Given the description of an element on the screen output the (x, y) to click on. 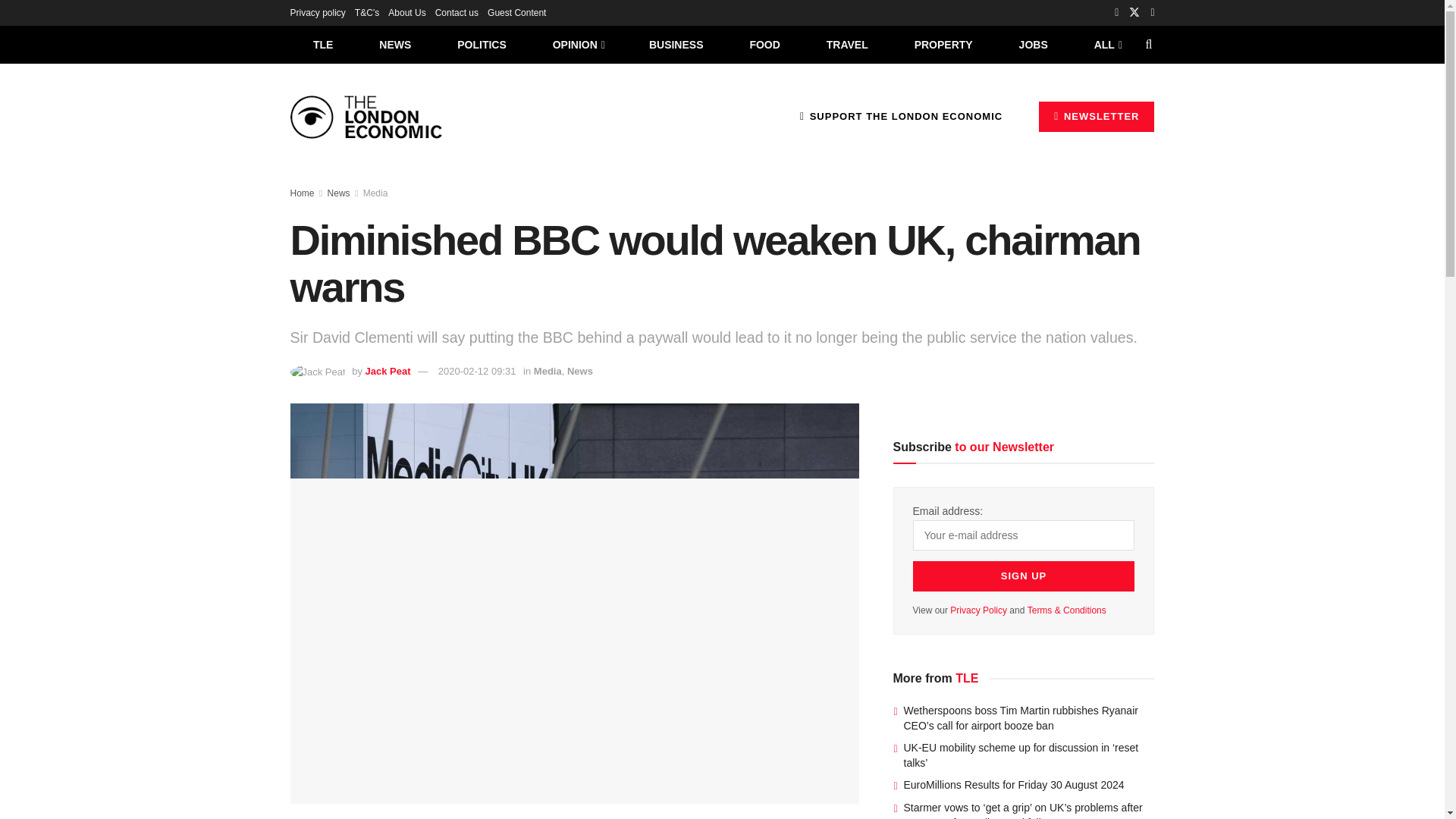
Home (301, 193)
Privacy policy (317, 12)
Contact us (457, 12)
BUSINESS (676, 44)
JOBS (1032, 44)
TLE (322, 44)
Guest Content (516, 12)
TRAVEL (847, 44)
PROPERTY (943, 44)
Sign up (1023, 576)
